Given the description of an element on the screen output the (x, y) to click on. 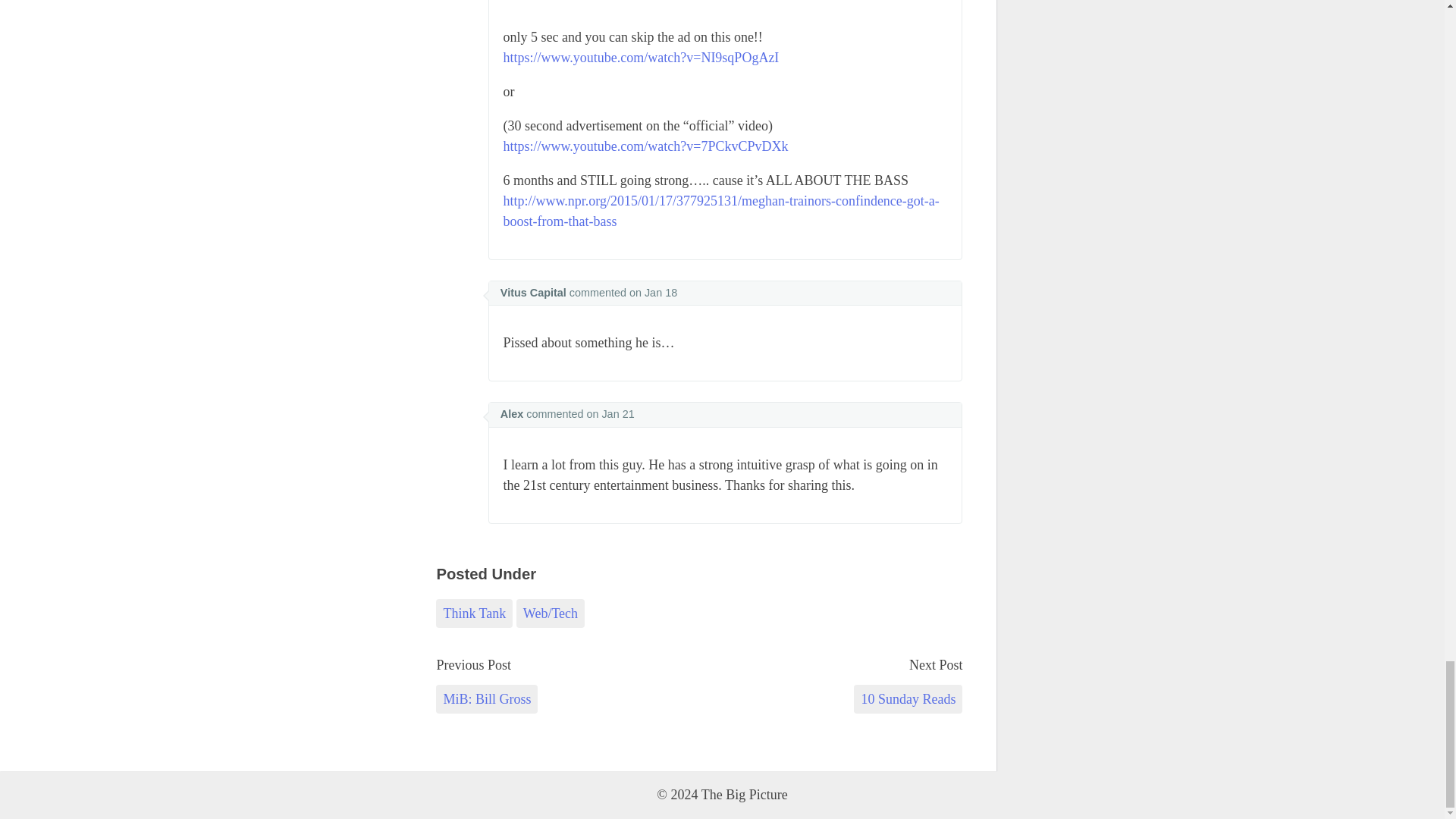
10 Sunday Reads (907, 698)
Think Tank (473, 613)
MiB: Bill Gross (486, 698)
Alex (511, 413)
Vitus Capital (533, 292)
